Given the description of an element on the screen output the (x, y) to click on. 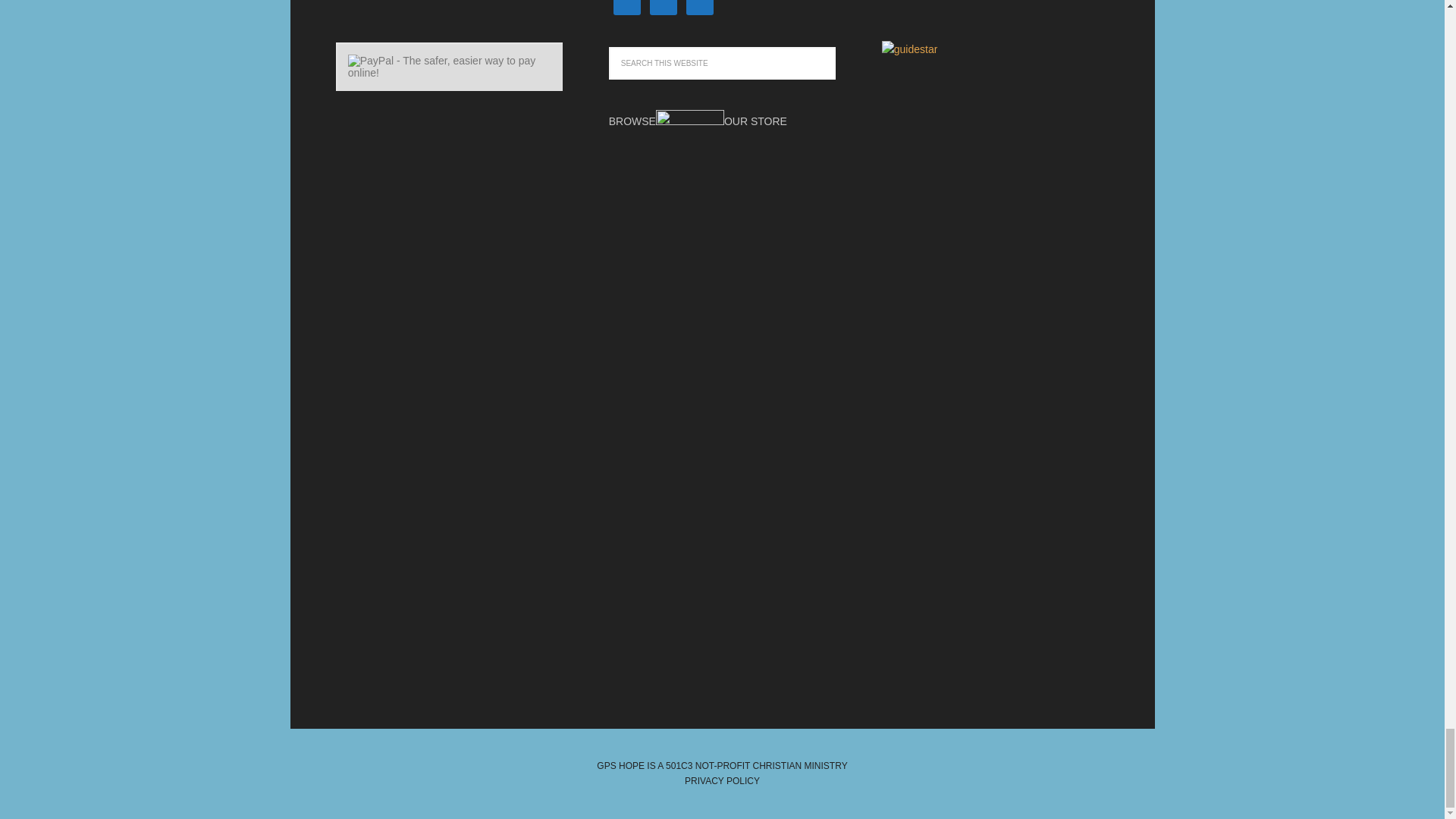
Privacy Policy (722, 780)
